Given the description of an element on the screen output the (x, y) to click on. 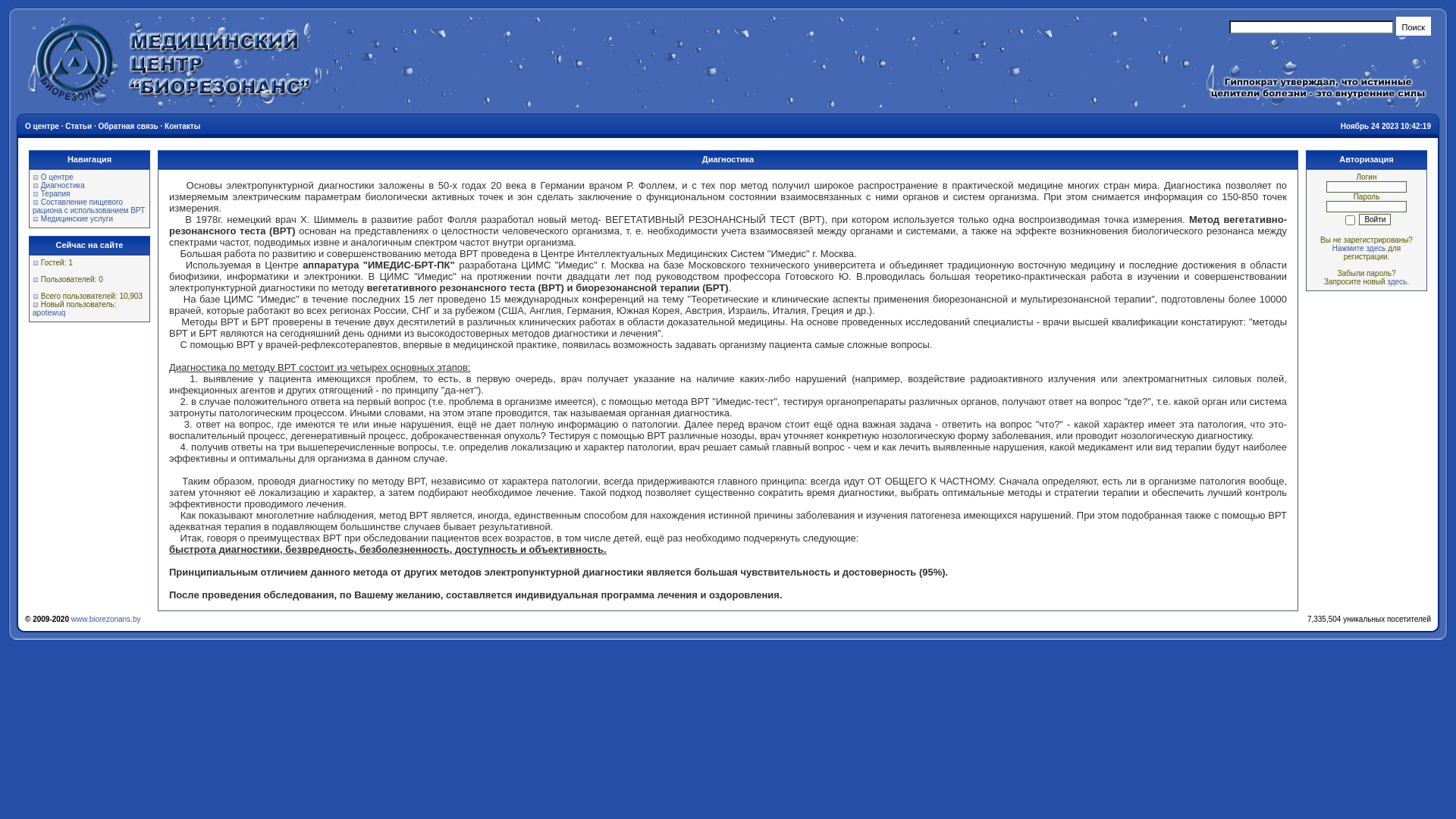
www.biorezonans.by Element type: text (106, 619)
apotewuq Element type: text (48, 312)
